Given the description of an element on the screen output the (x, y) to click on. 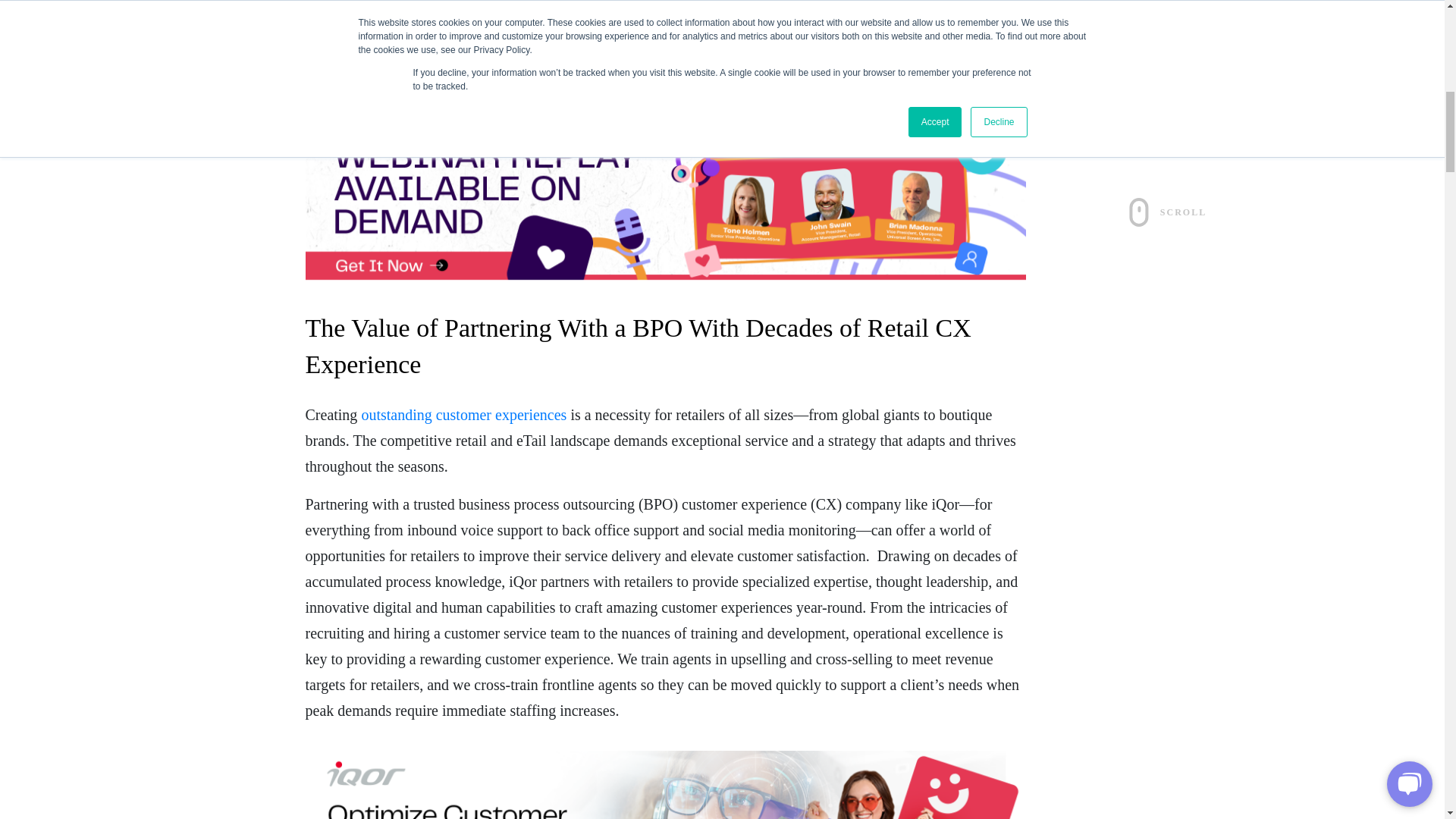
SCROLL (1167, 212)
SCROLL (1166, 168)
Embedded CTA (664, 785)
